Given the description of an element on the screen output the (x, y) to click on. 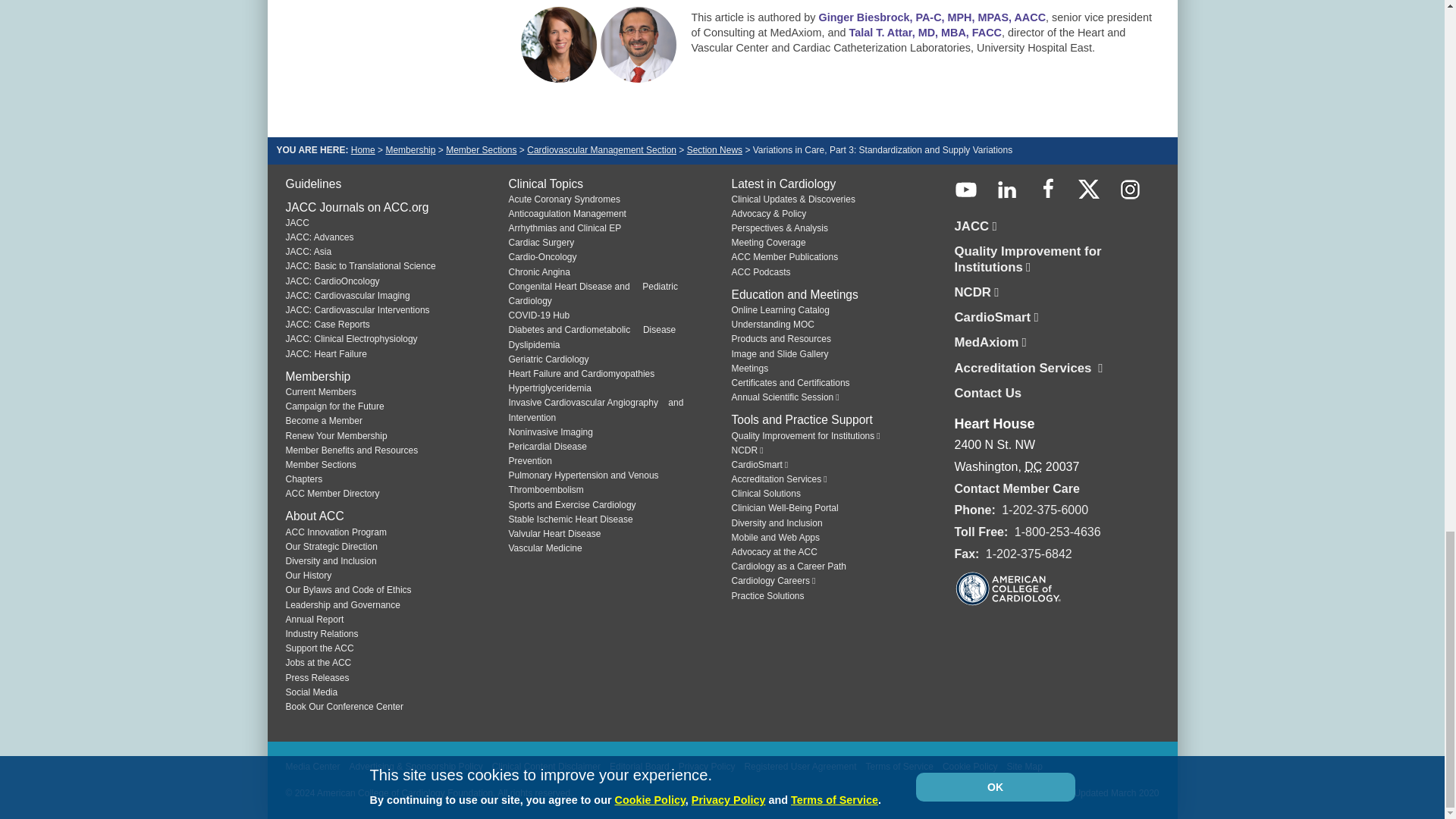
JACC: Cardiovascular Imaging (347, 295)
JACC Asia (308, 251)
Guidelines (312, 183)
JACC: Advances (319, 236)
JACC: Cardiovascular Interventions (357, 309)
